Given the description of an element on the screen output the (x, y) to click on. 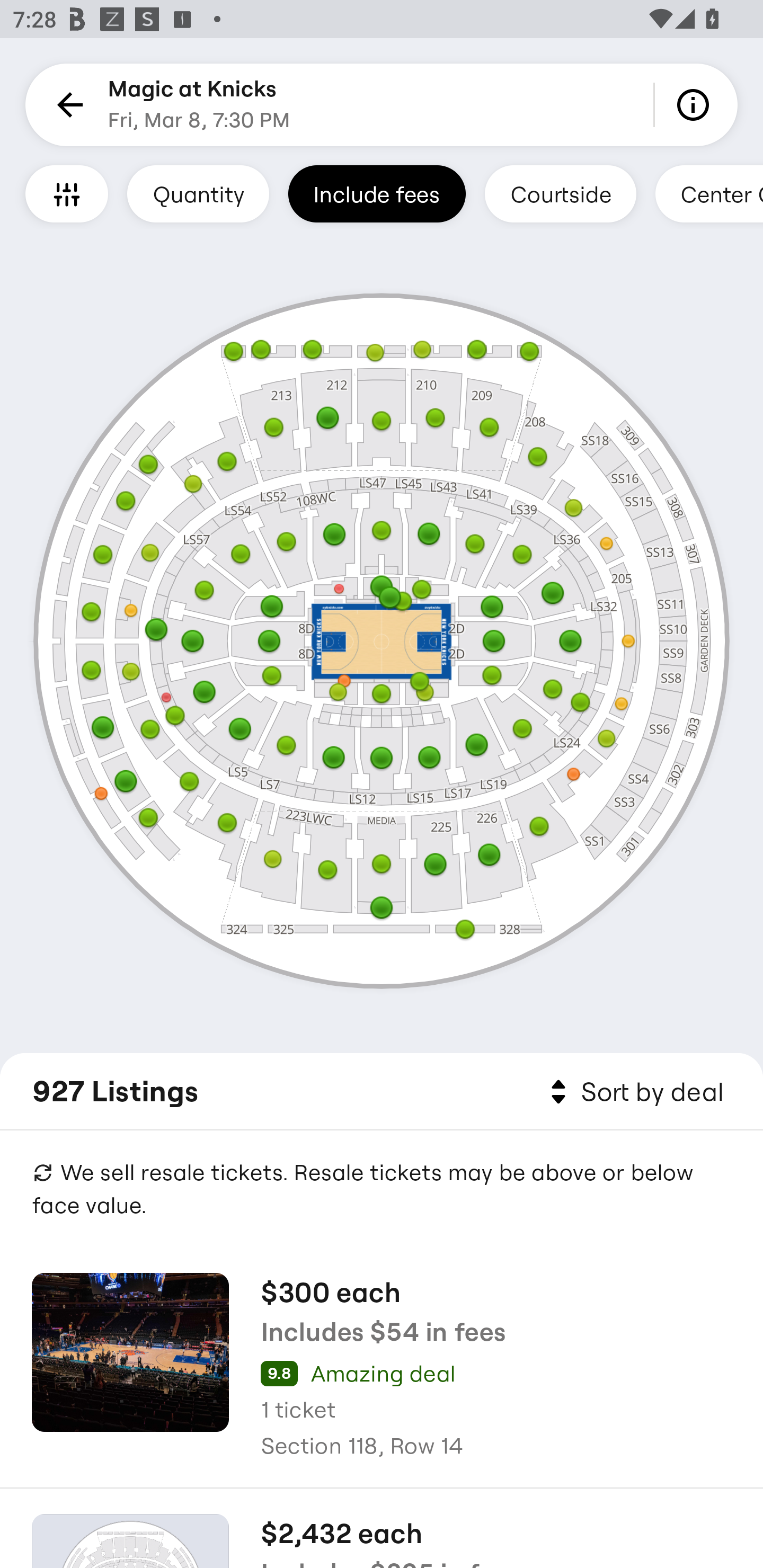
Back (66, 104)
Magic at Knicks Fri, Mar 8, 7:30 PM (198, 104)
Info (695, 104)
Filters and Accessible Seating (66, 193)
Quantity (198, 193)
Include fees (376, 193)
Courtside (560, 193)
Sort by deal (633, 1091)
